Given the description of an element on the screen output the (x, y) to click on. 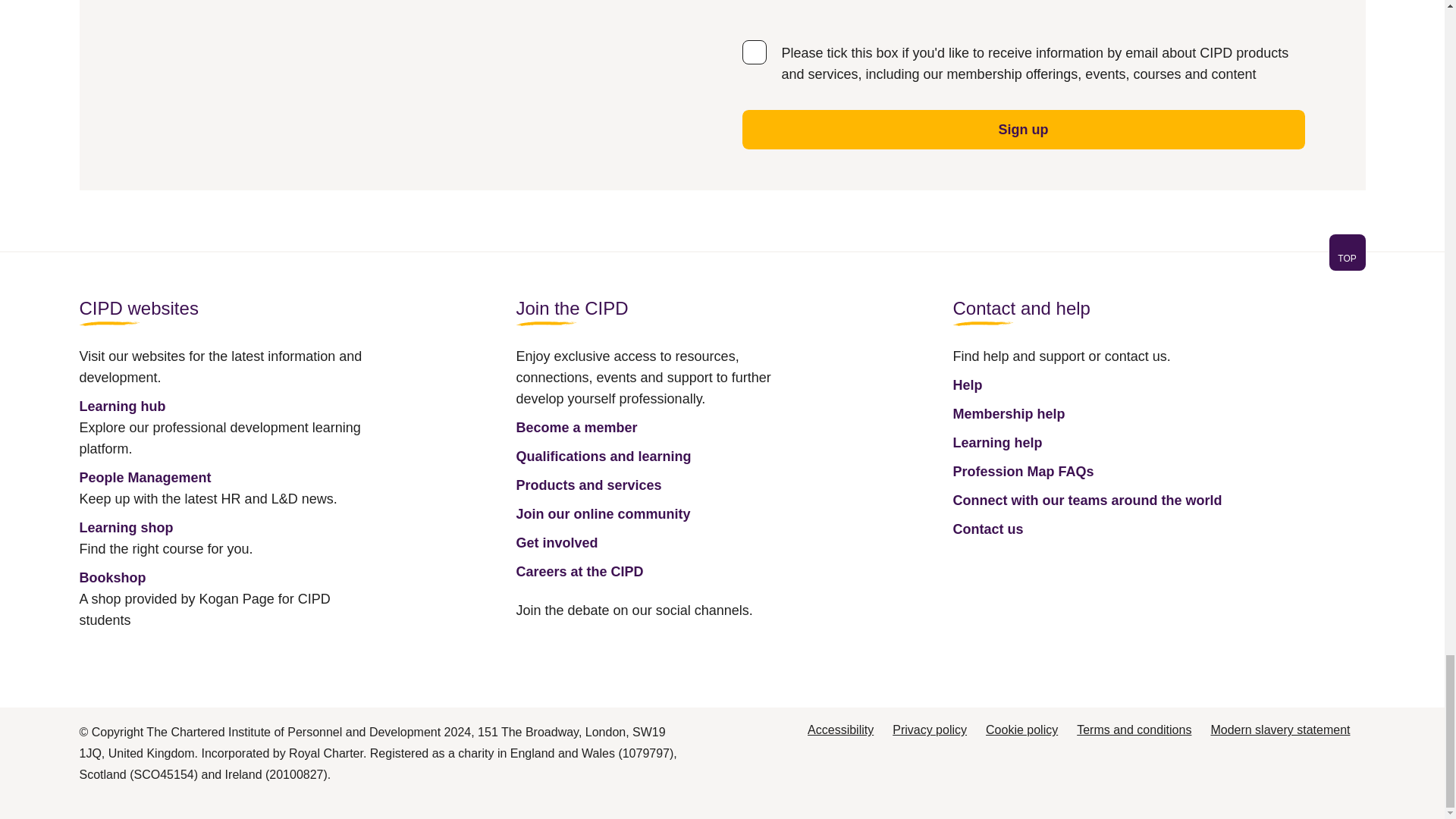
Consented (753, 51)
TOP (721, 260)
TOP (1346, 258)
TOP (1346, 251)
